Given the description of an element on the screen output the (x, y) to click on. 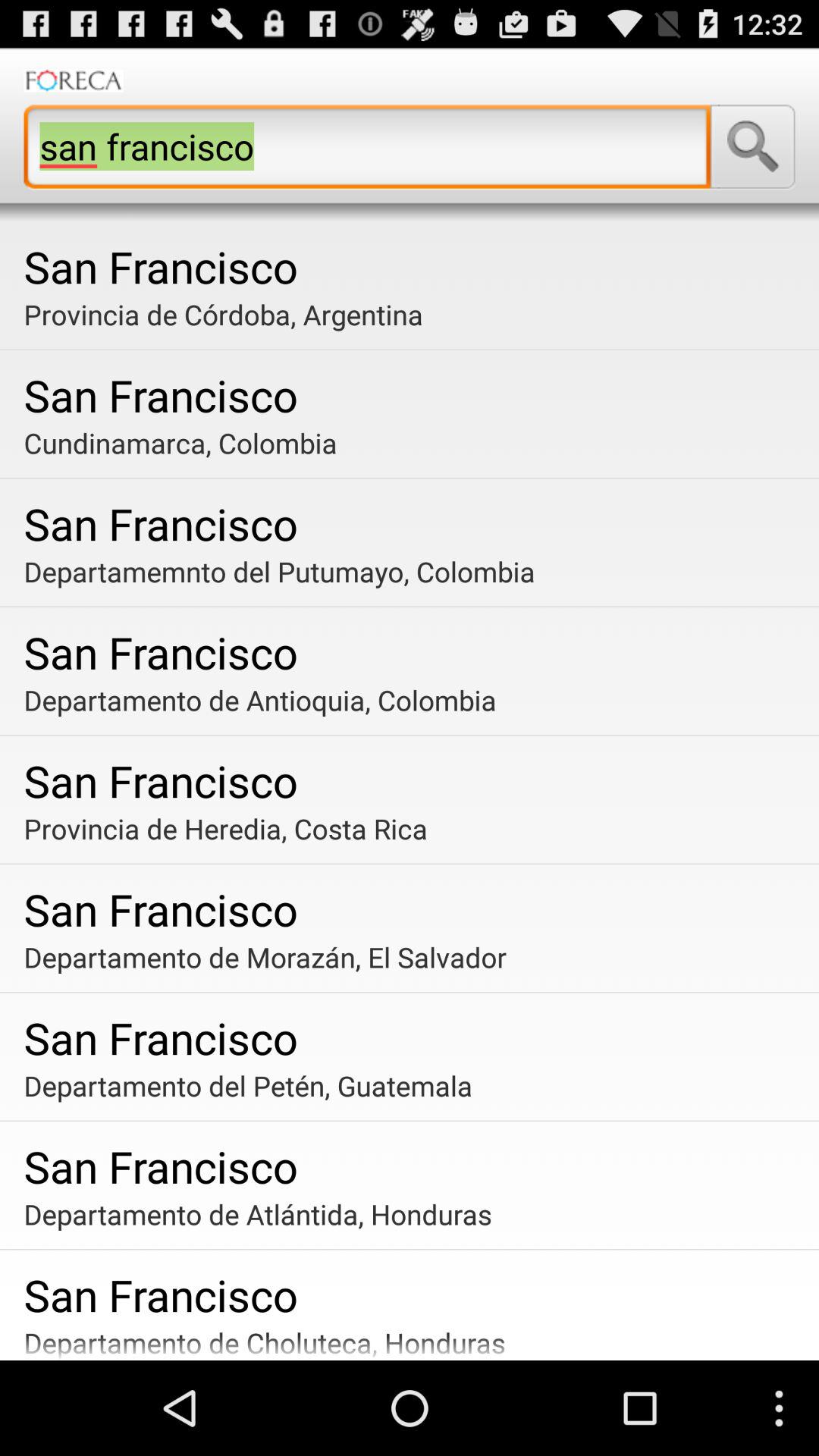
swipe to cundinamarca, colombia item (415, 442)
